Given the description of an element on the screen output the (x, y) to click on. 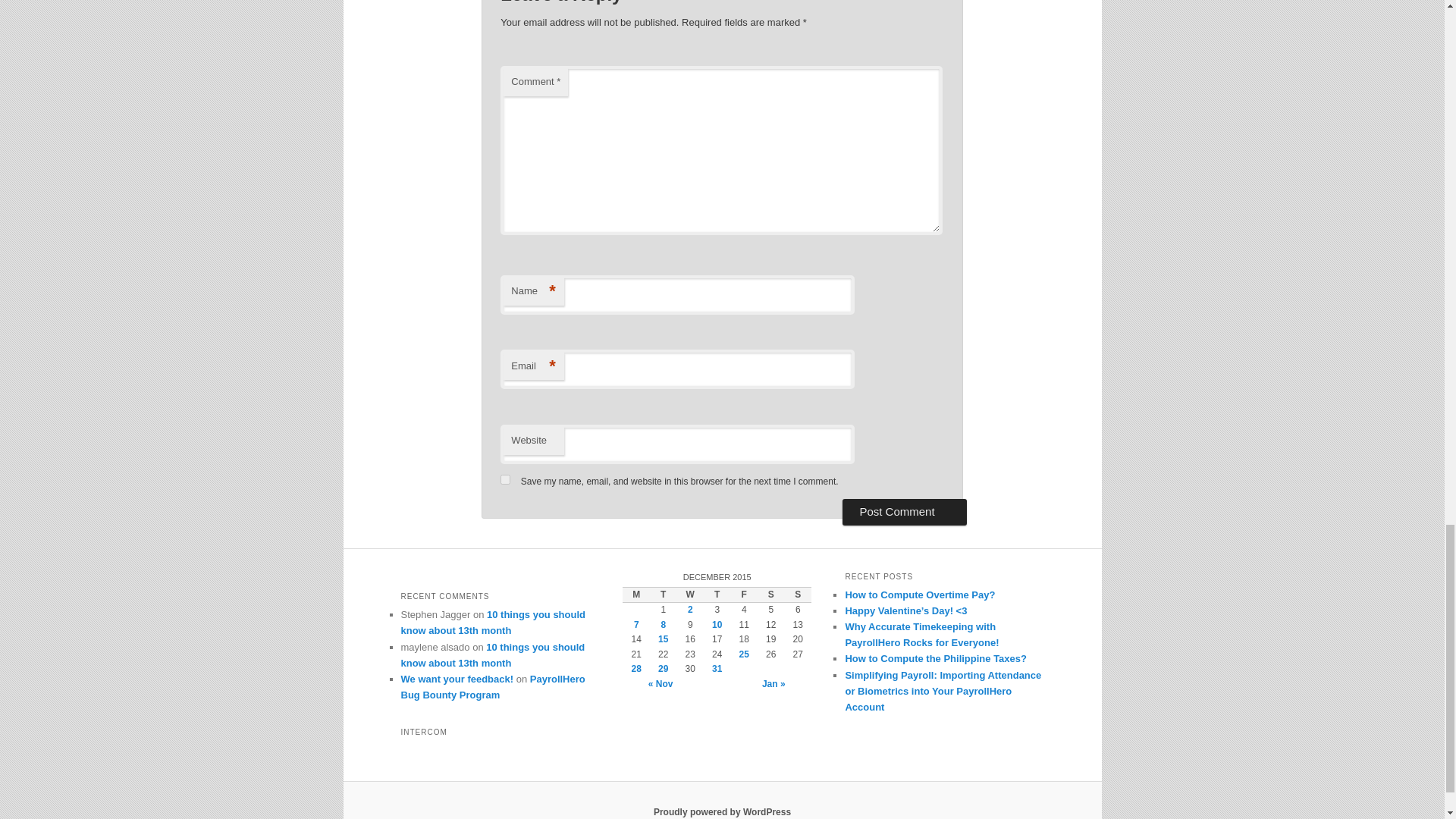
Wednesday (690, 595)
PayrollHero Bug Bounty Program (492, 687)
10 (716, 624)
Post Comment (904, 511)
Thursday (716, 595)
Monday (636, 595)
yes (505, 479)
Saturday (770, 595)
Post Comment (904, 511)
15 (663, 638)
